Given the description of an element on the screen output the (x, y) to click on. 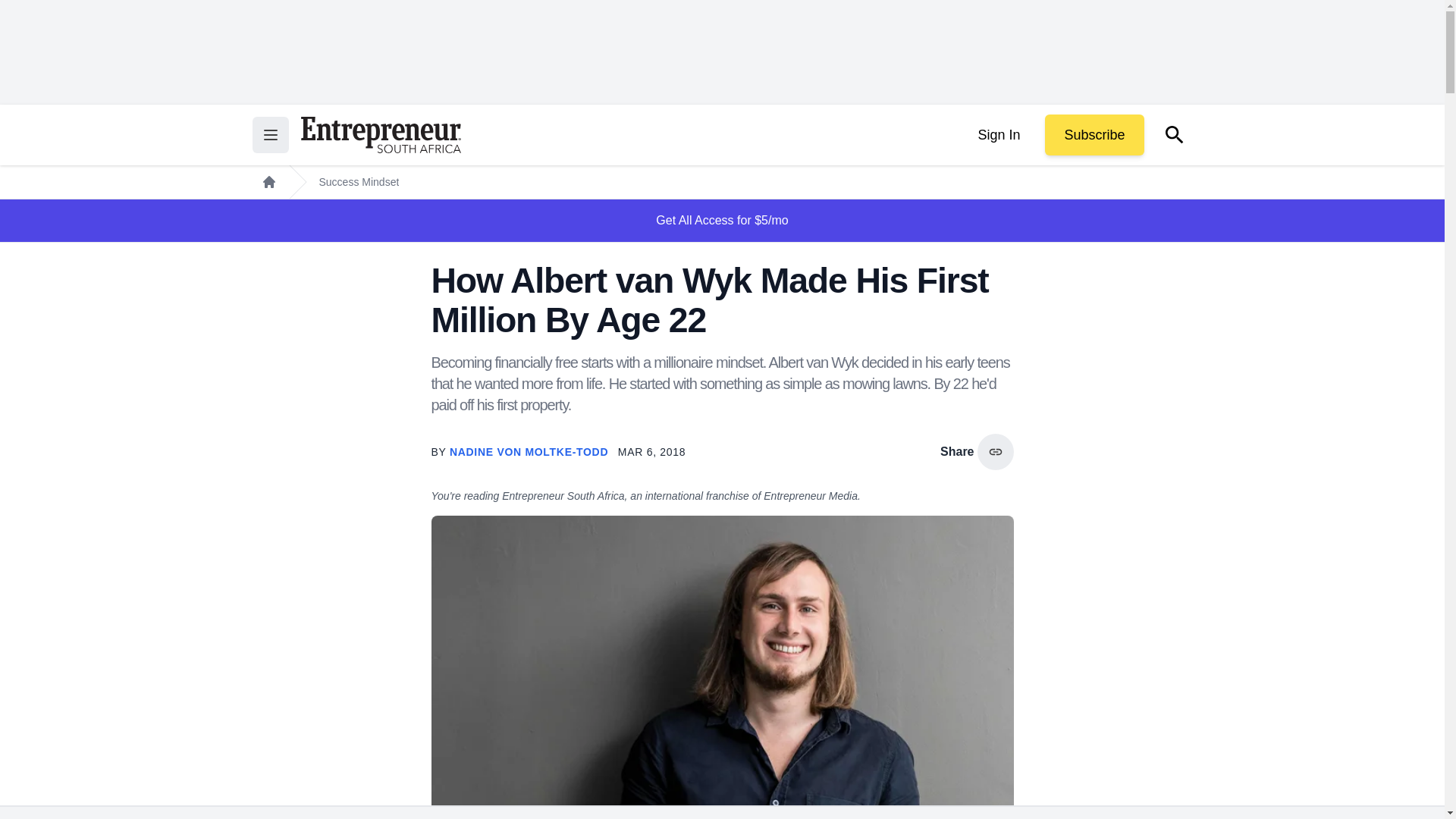
Sign In (998, 134)
copy (994, 452)
Subscribe (1093, 134)
Return to the home page (380, 135)
